Given the description of an element on the screen output the (x, y) to click on. 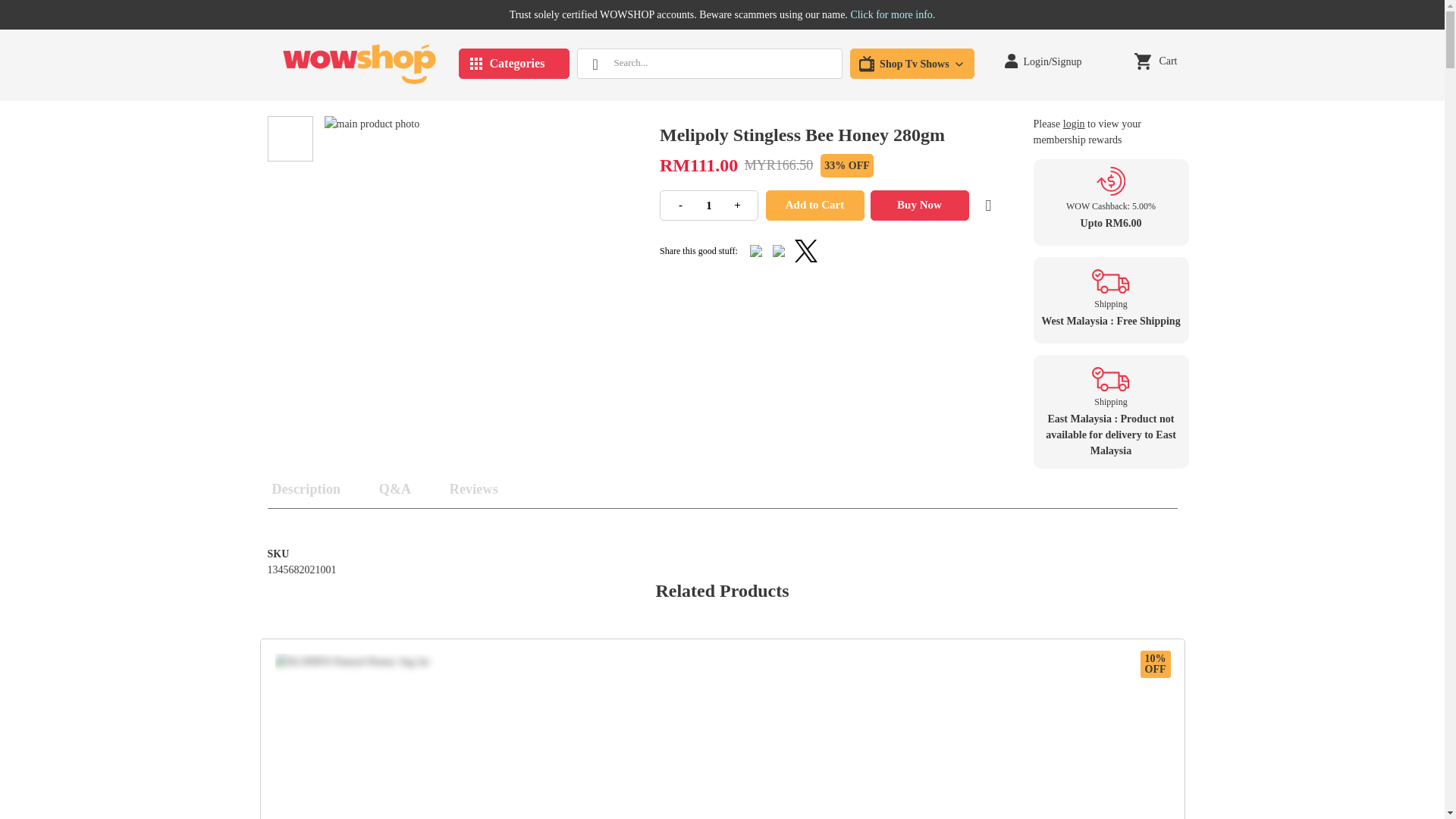
Search (594, 63)
Buy Now (919, 205)
Qty (708, 205)
Click for more info. (892, 14)
1 (708, 205)
Add to Cart (814, 205)
Categories (513, 63)
